Given the description of an element on the screen output the (x, y) to click on. 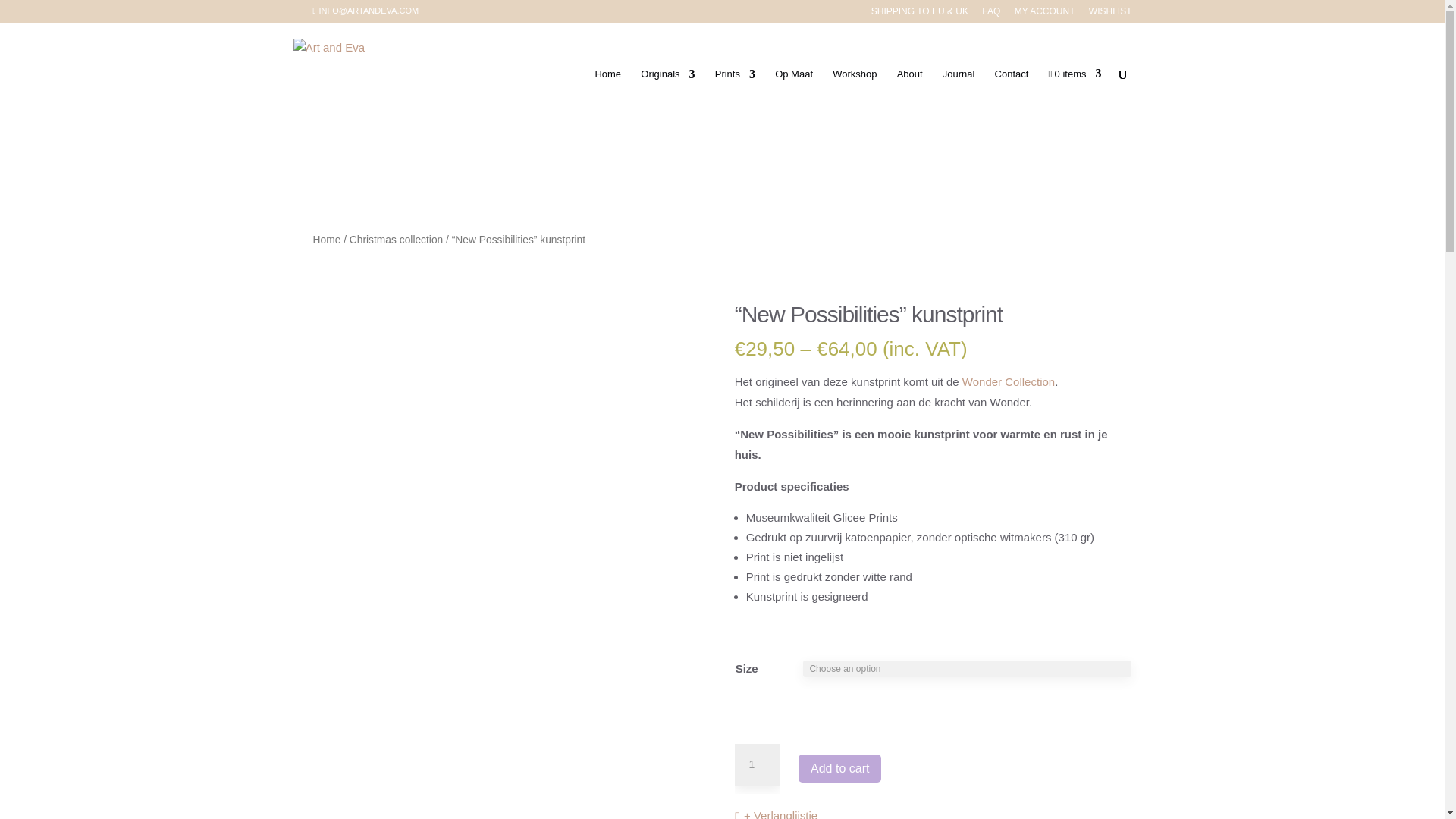
0 items (1075, 96)
Christmas collection (395, 239)
Originals (667, 96)
FAQ (990, 14)
Start shopping (1075, 96)
WISHLIST (1110, 14)
1 (757, 764)
Home (326, 239)
MY ACCOUNT (1044, 14)
Wonder Collection (1008, 381)
